Given the description of an element on the screen output the (x, y) to click on. 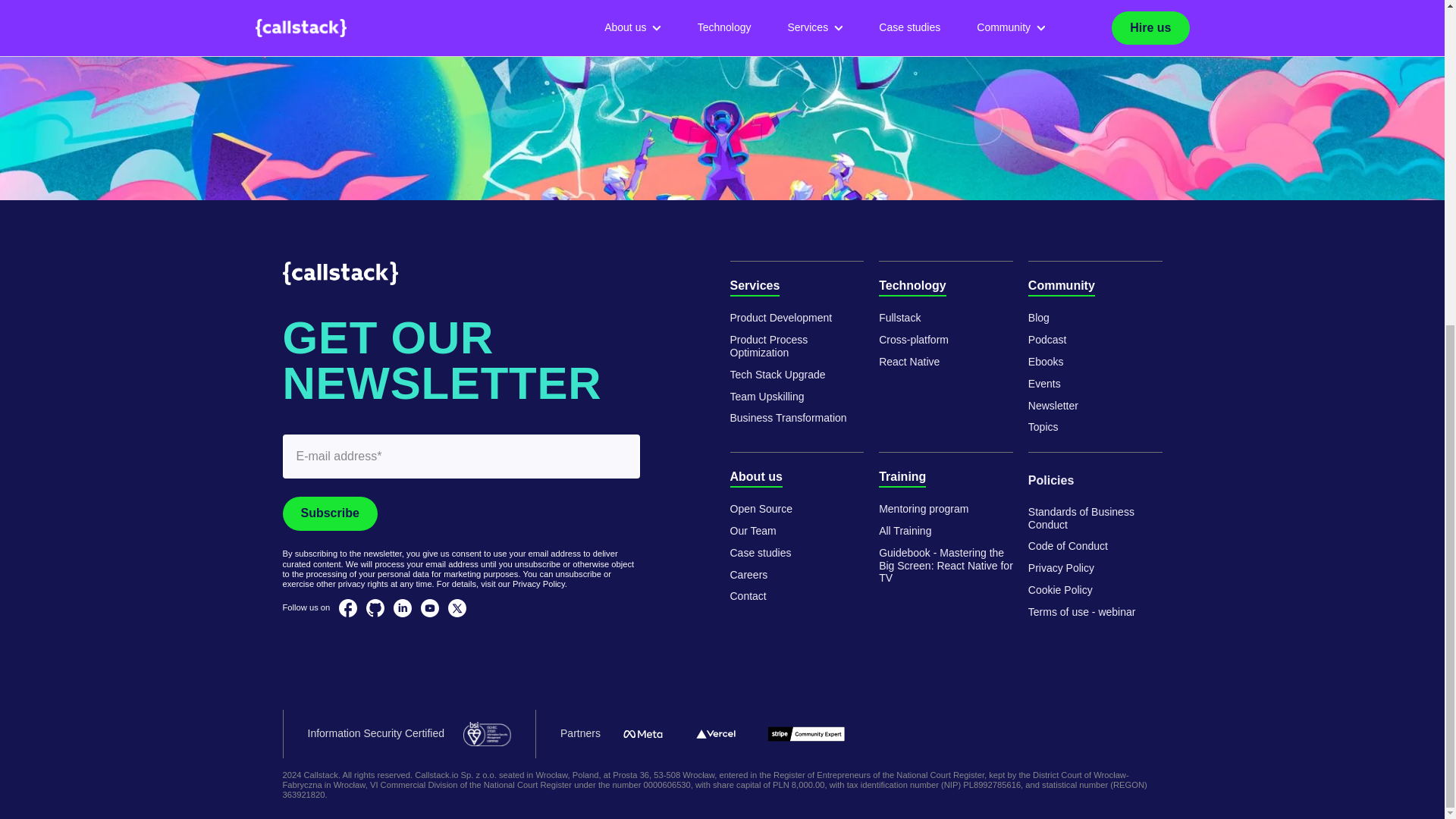
Product Development (780, 318)
React native for Desktop (899, 318)
Ebooks (1052, 405)
Podcast (1047, 339)
All Training (923, 508)
Business Transformation (787, 418)
React native for Desktop (914, 339)
Careers (748, 574)
Team Upskilling (766, 396)
Tech Stack Upgrade (777, 374)
